Given the description of an element on the screen output the (x, y) to click on. 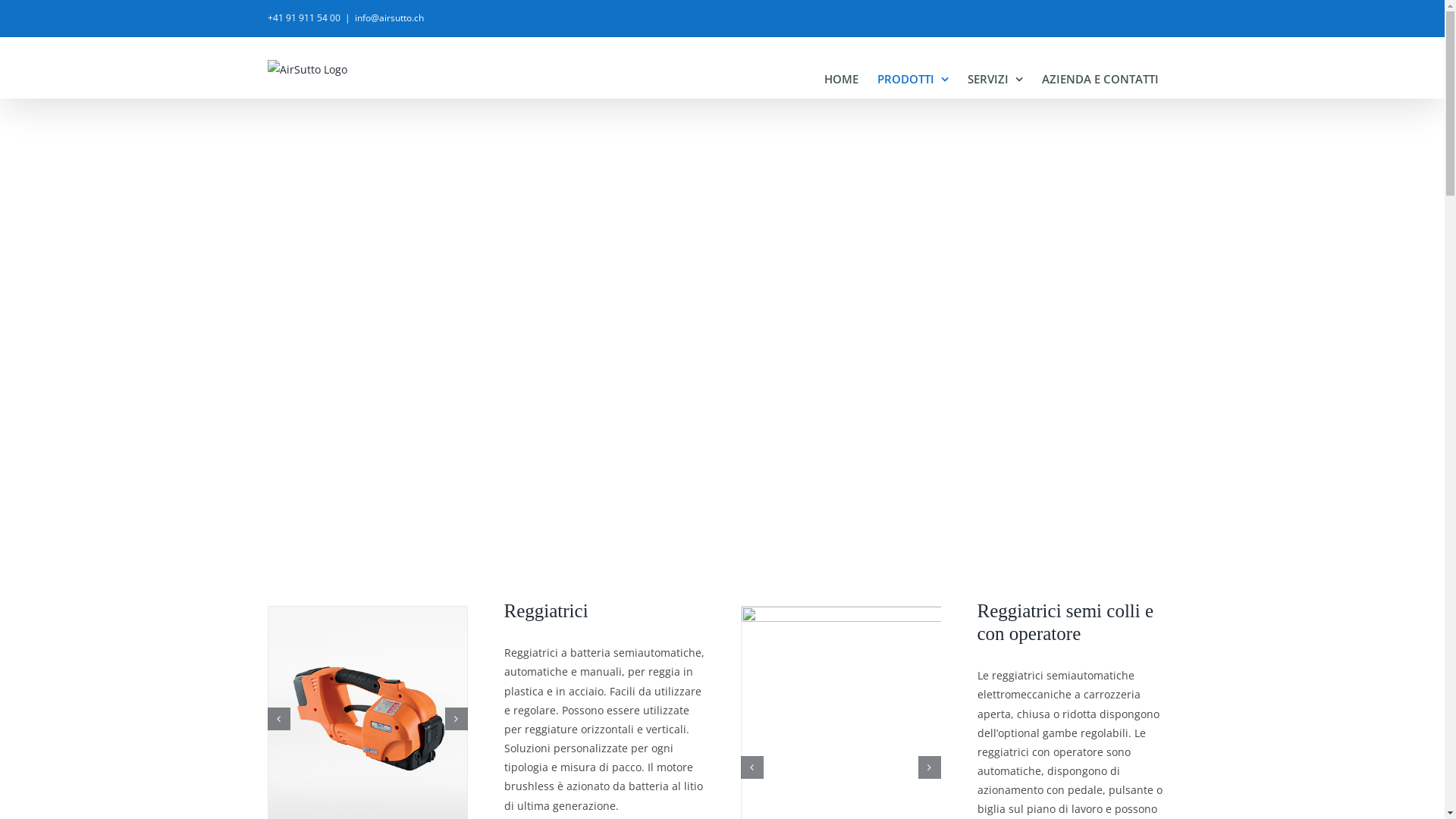
PRODOTTI Element type: text (911, 78)
HOME Element type: text (840, 78)
info@airsutto.ch Element type: text (388, 17)
AZIENDA E CONTATTI Element type: text (1099, 78)
SERVIZI Element type: text (994, 78)
